Given the description of an element on the screen output the (x, y) to click on. 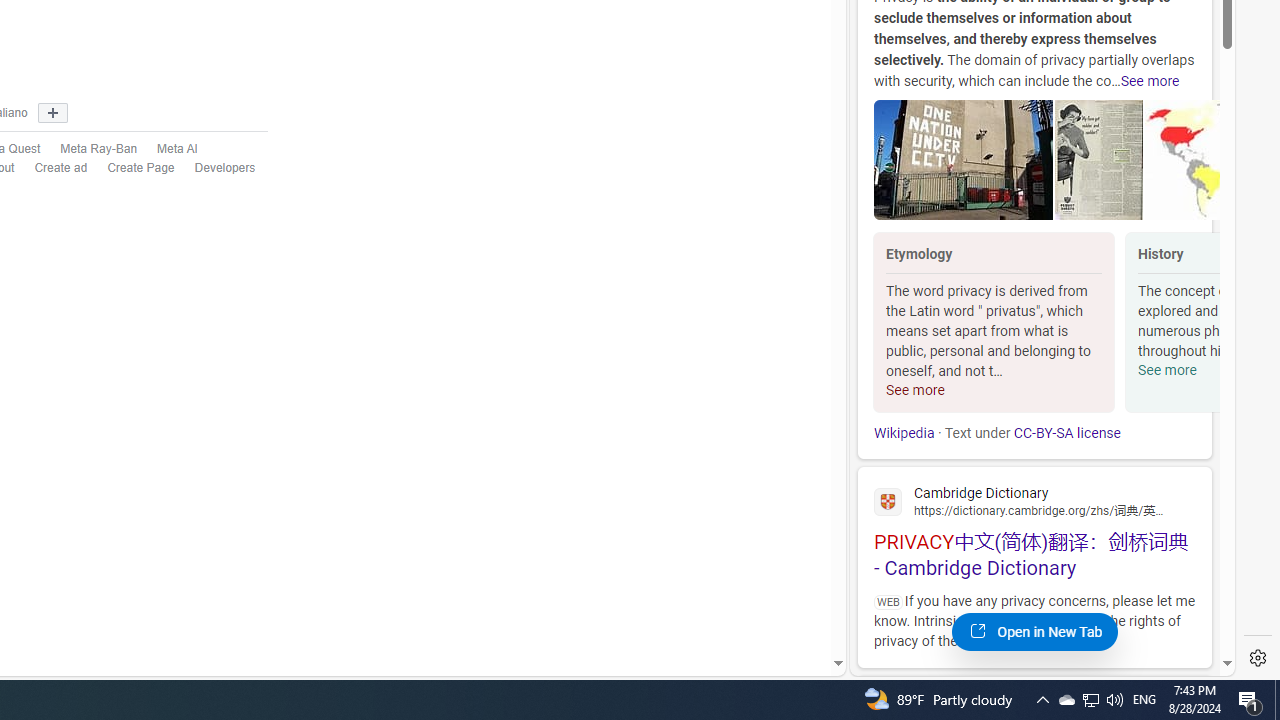
Create ad (61, 168)
Cambridge Dictionary (1034, 500)
Create ad (51, 169)
Create Page (141, 168)
Create Page (131, 169)
Show more languages (52, 112)
Wikipedia (904, 433)
